Given the description of an element on the screen output the (x, y) to click on. 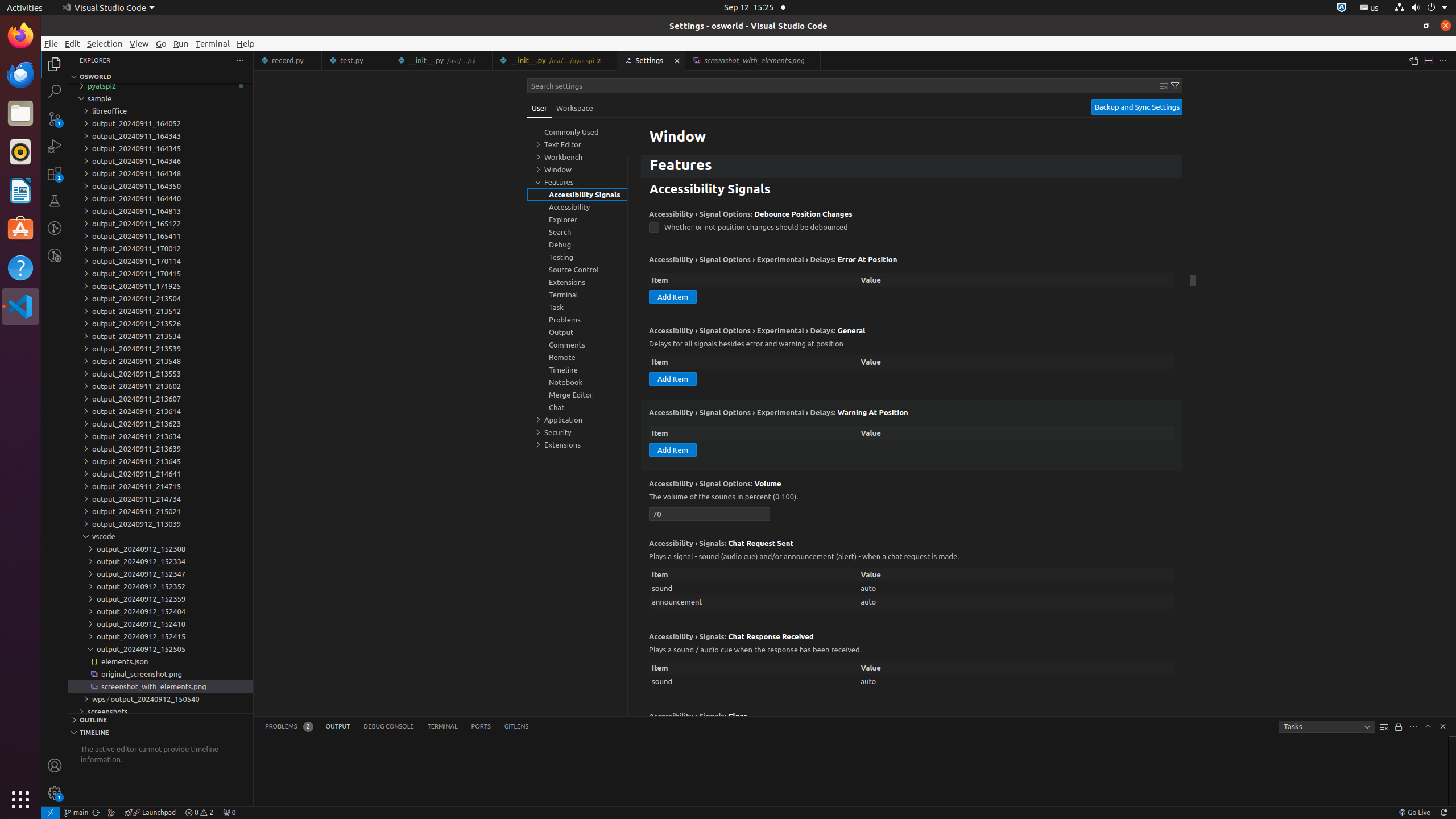
Explorer, group Element type: tree-item (577, 219)
output_20240911_214641 Element type: tree-item (160, 473)
output_20240911_213534 Element type: tree-item (160, 335)
Extensions (Ctrl+Shift+X) - 2 require restart Extensions (Ctrl+Shift+X) - 2 require restart Element type: page-tab (54, 173)
